Given the description of an element on the screen output the (x, y) to click on. 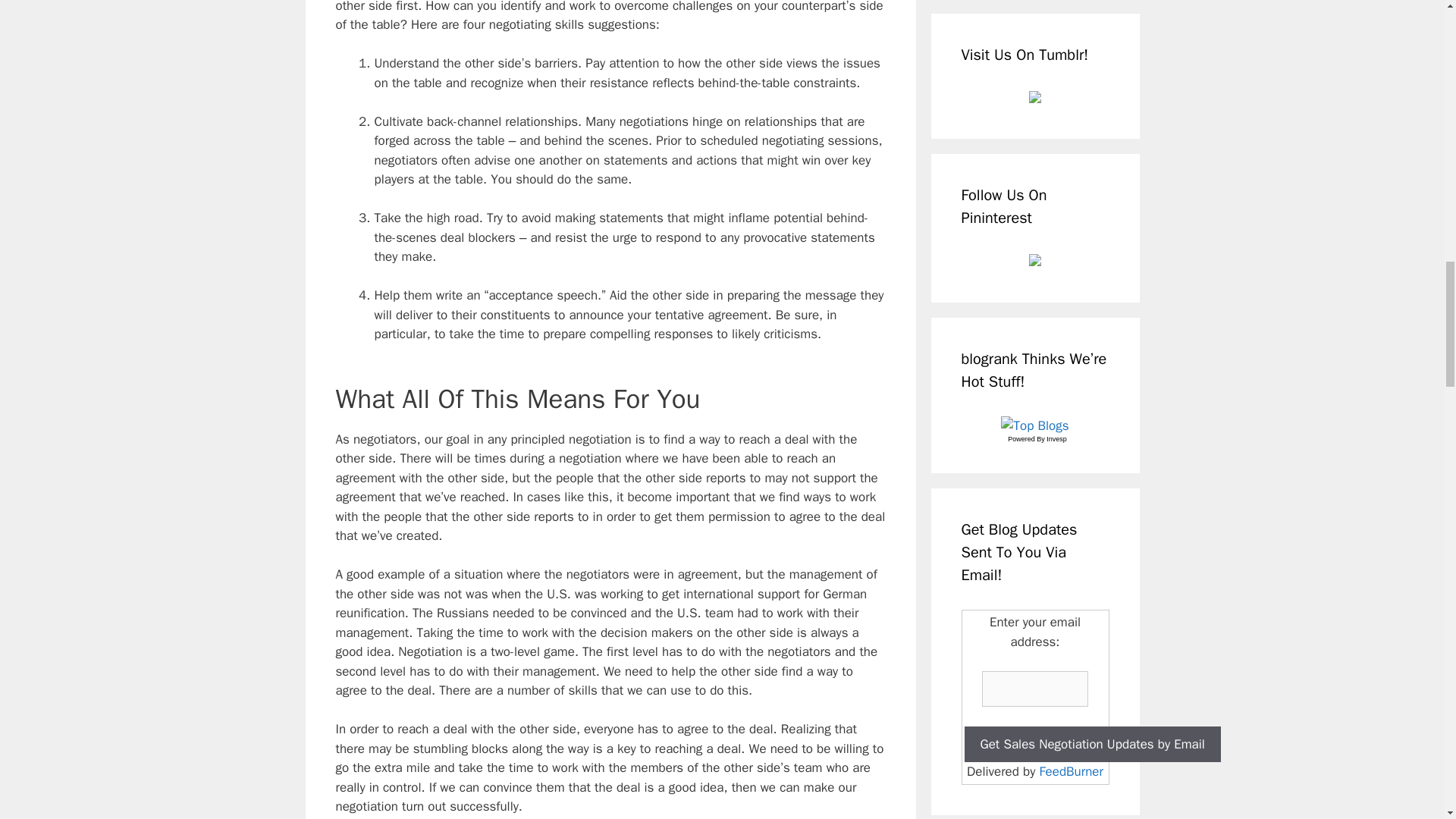
Get Sales Negotiation Updates by Email (1092, 744)
